Given the description of an element on the screen output the (x, y) to click on. 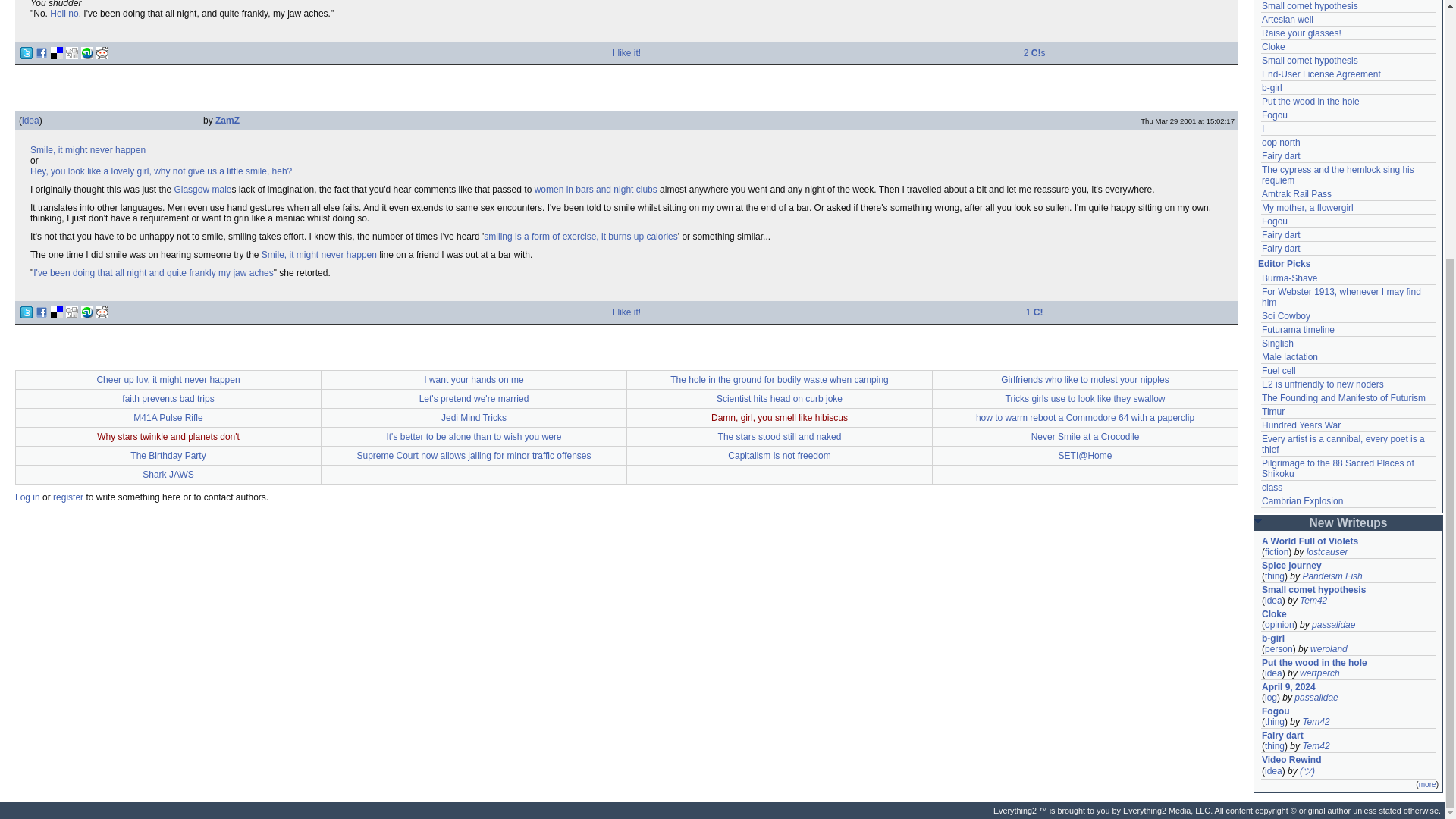
women in bars and night clubs (596, 189)
Hell no (63, 13)
Smile, it might never happen (87, 149)
smiling is a form of exercise, it burns up calories (580, 235)
Smile, it might never happen (319, 254)
I like it! (626, 52)
Hell no (63, 13)
ZamZ (227, 120)
2 C!s (1034, 52)
